Given the description of an element on the screen output the (x, y) to click on. 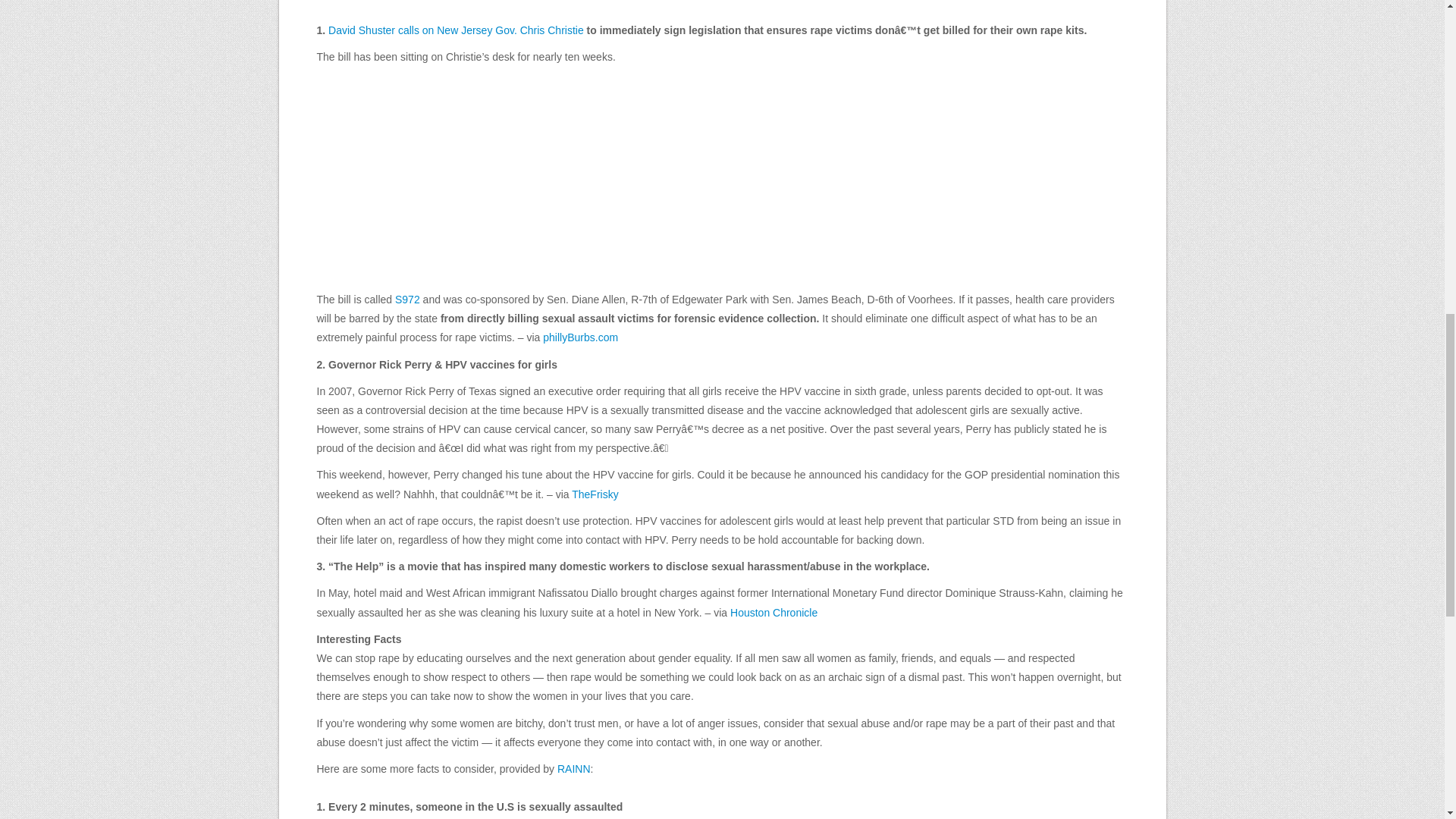
David Shuster calls on New Jersey Gov. Chris Christie (456, 30)
RAINN (574, 768)
TheFrisky (594, 494)
phillyBurbs.com (580, 337)
S972 (407, 299)
Houston Chronicle (773, 612)
